Given the description of an element on the screen output the (x, y) to click on. 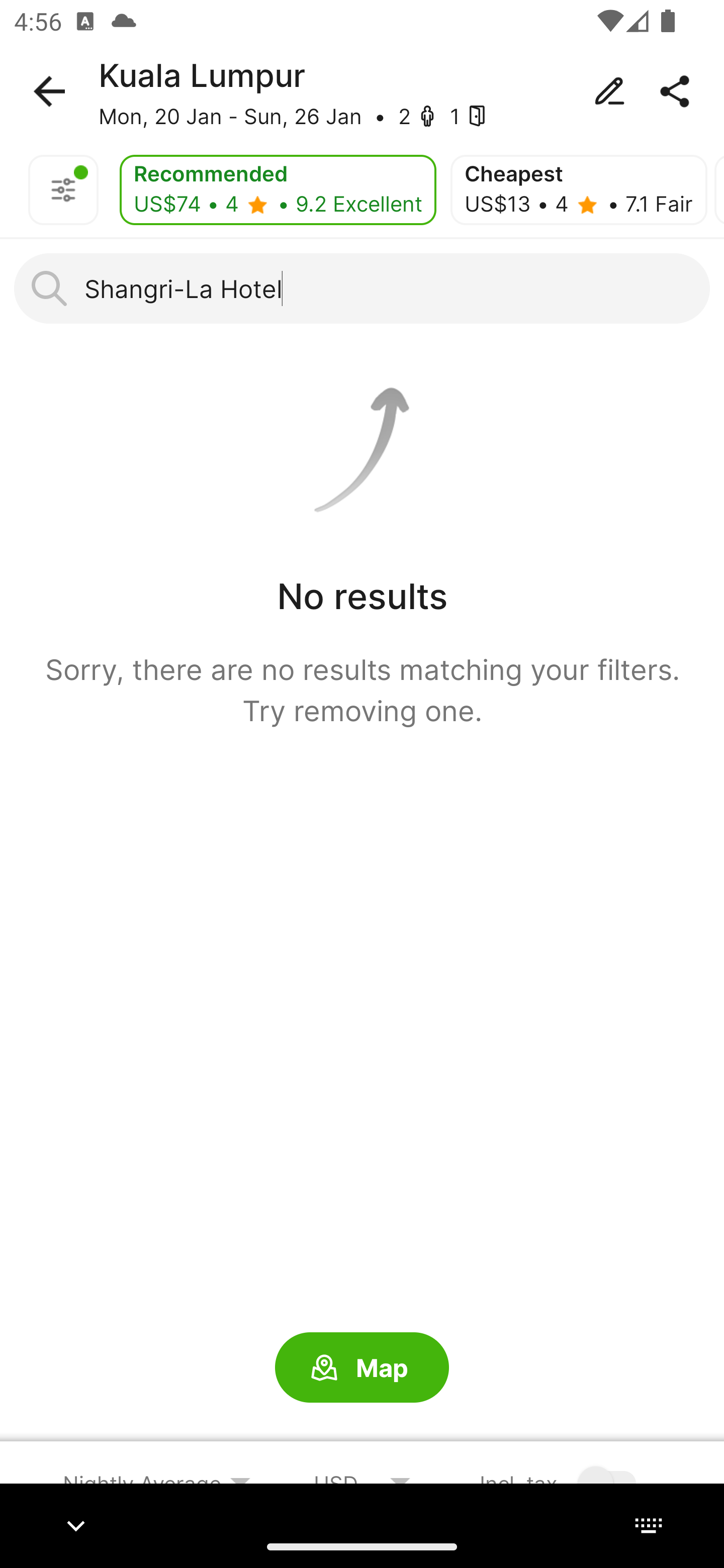
Recommended  US$74  • 4 - • 9.2 Excellent (277, 190)
Cheapest US$13  • 4 - • 7.1 Fair (578, 190)
Shangri-La Hotel (361, 288)
Map  (361, 1367)
